Given the description of an element on the screen output the (x, y) to click on. 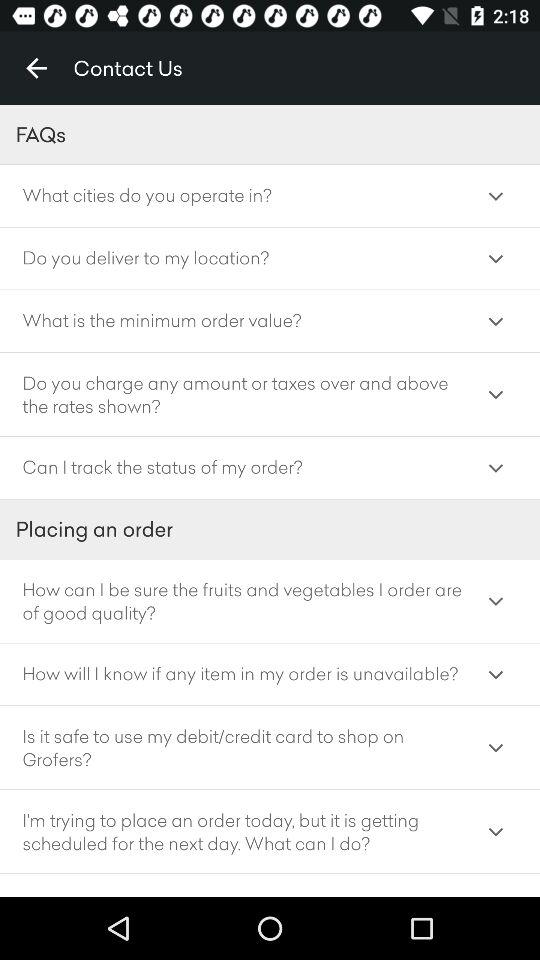
press icon next to contact us (36, 67)
